Given the description of an element on the screen output the (x, y) to click on. 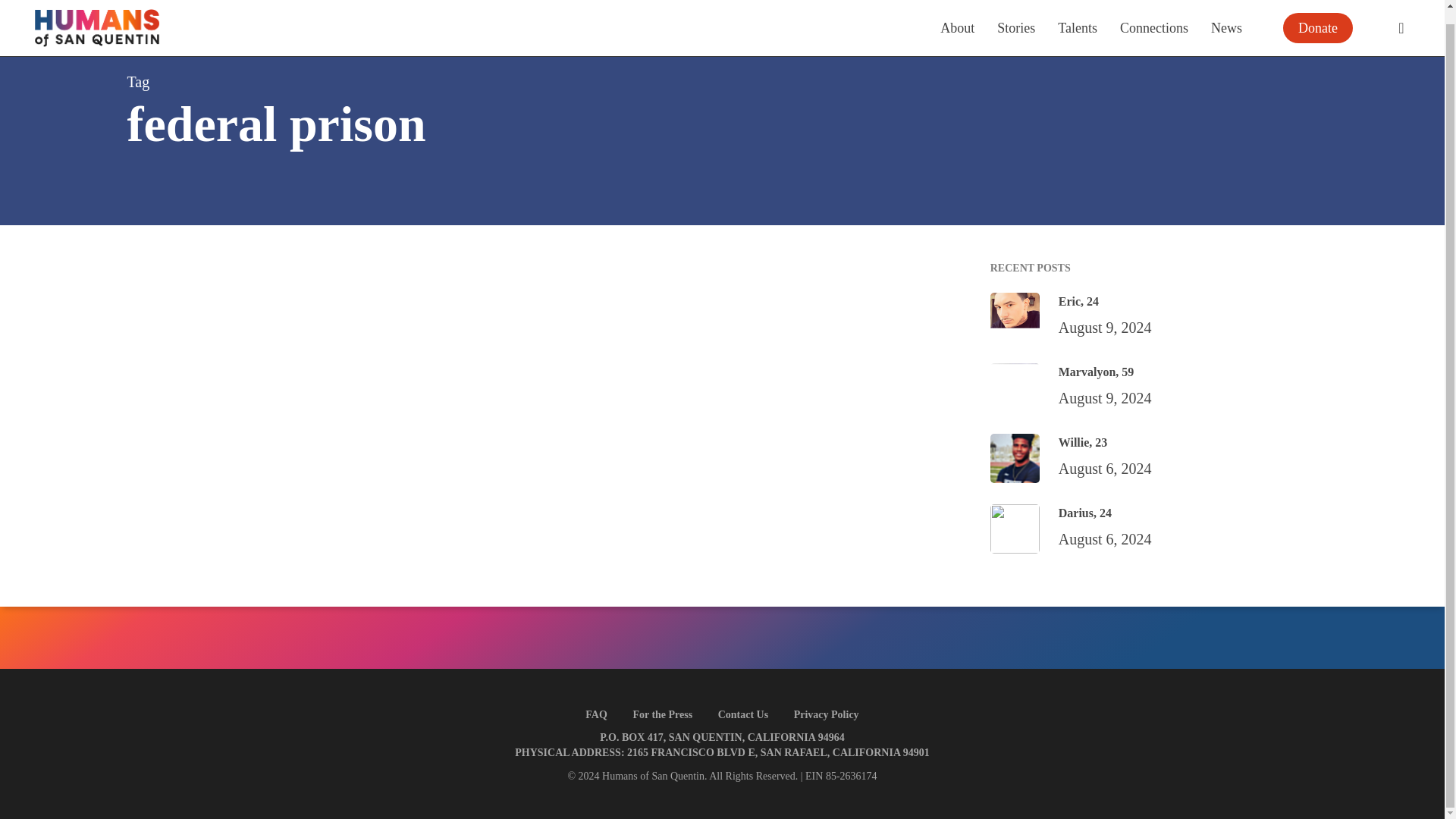
Connections (1153, 13)
Talents (1077, 13)
About (957, 13)
News (1226, 13)
Stories (1016, 13)
Donate (1318, 15)
